Given the description of an element on the screen output the (x, y) to click on. 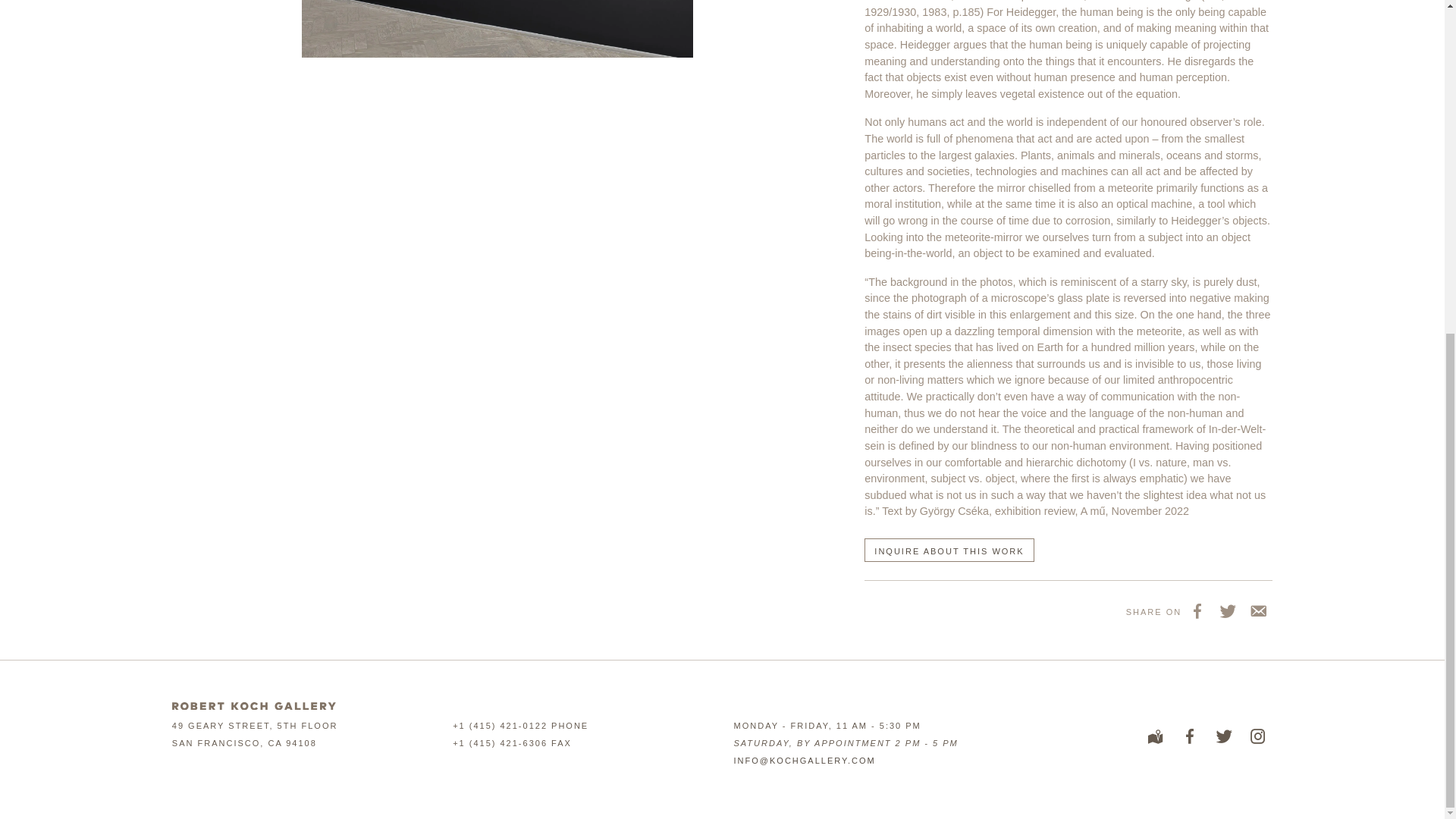
Share via Email (1256, 610)
Share on Twitter (1226, 610)
Share on Facebook (1196, 610)
Home (253, 705)
Email (1256, 610)
INQUIRE ABOUT THIS WORK (948, 549)
Facebook (1196, 610)
Follow us on Facebook (1188, 735)
Twitter (1226, 610)
Location on Google Maps (1154, 735)
